Given the description of an element on the screen output the (x, y) to click on. 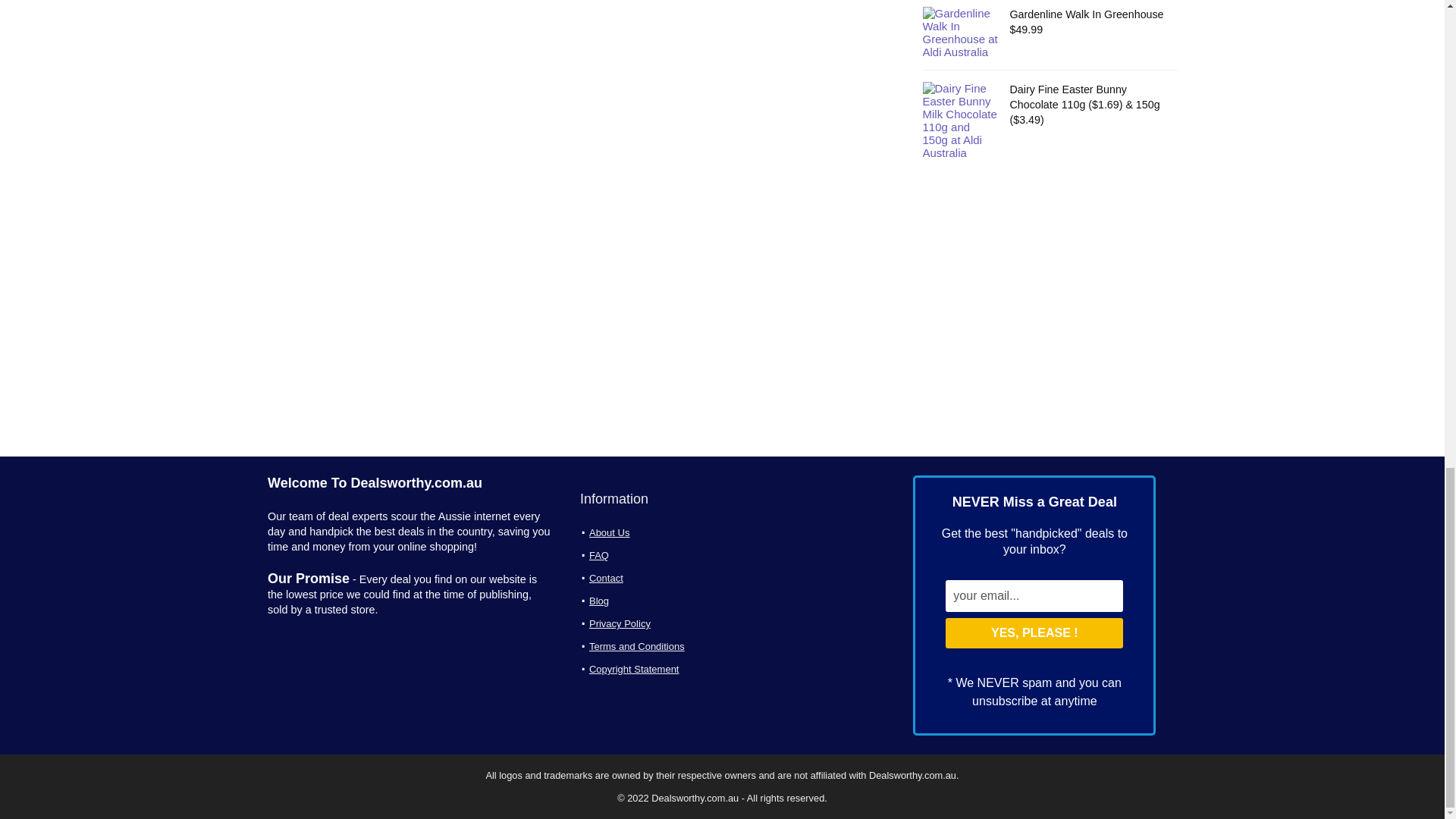
Yes, Please ! (1033, 633)
